Given the description of an element on the screen output the (x, y) to click on. 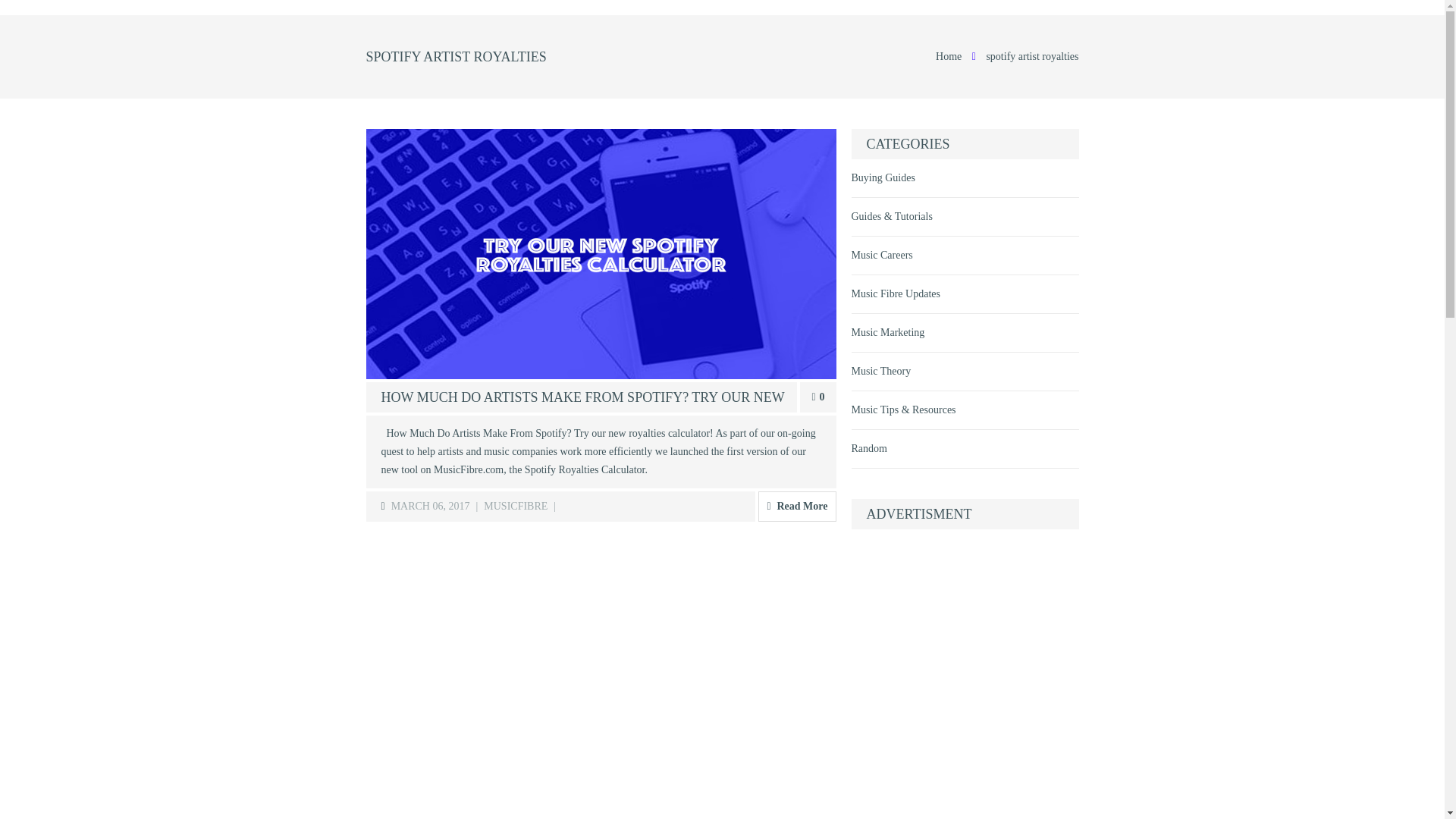
Random (964, 448)
Music Careers (964, 255)
Buying Guides (964, 177)
Read More (796, 506)
View all posts by MusicFibre (515, 505)
Music Fibre Updates (964, 293)
MUSICFIBRE (515, 505)
Music Marketing (964, 332)
